Given the description of an element on the screen output the (x, y) to click on. 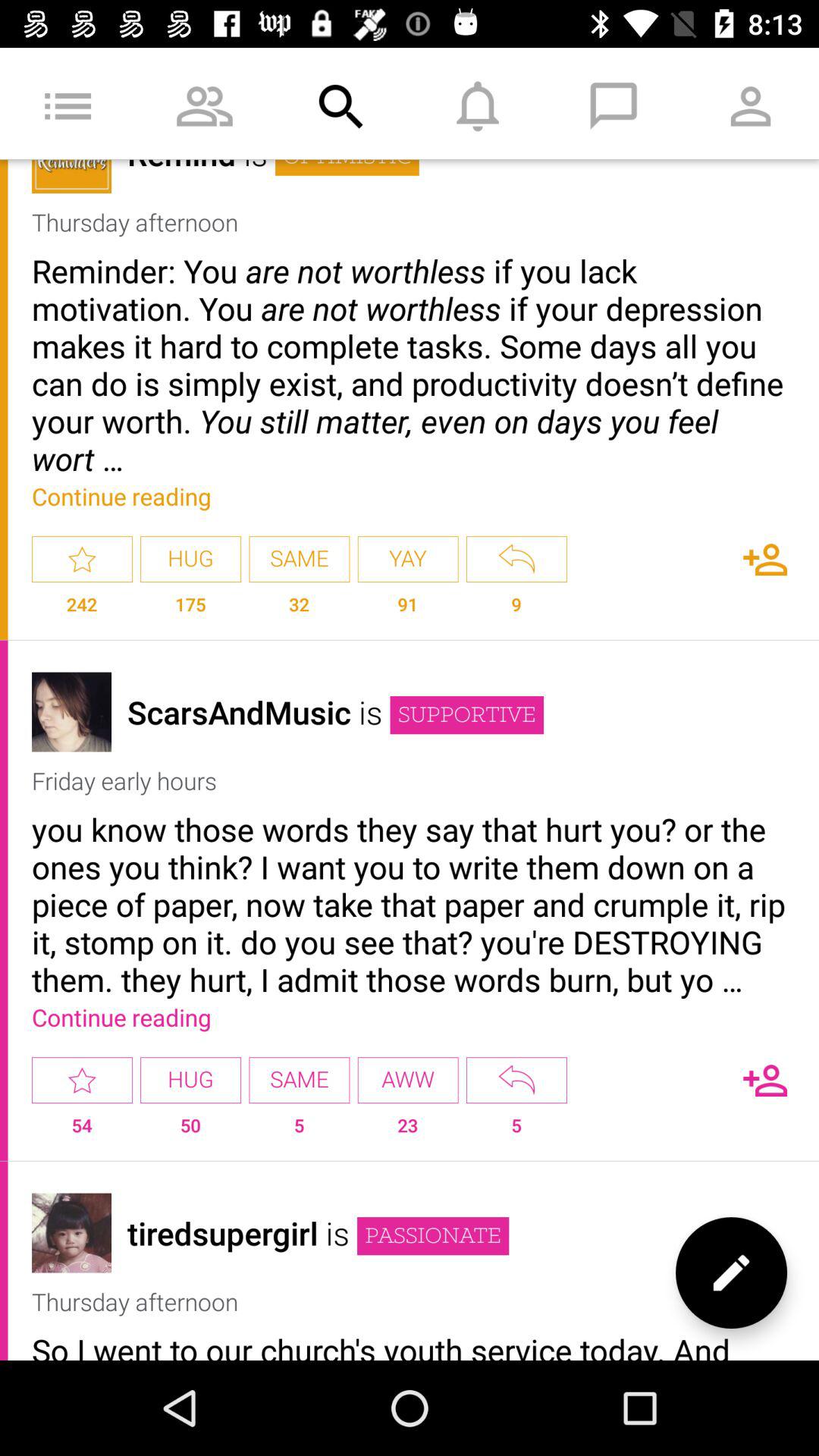
turn off the item next to is (433, 1236)
